Given the description of an element on the screen output the (x, y) to click on. 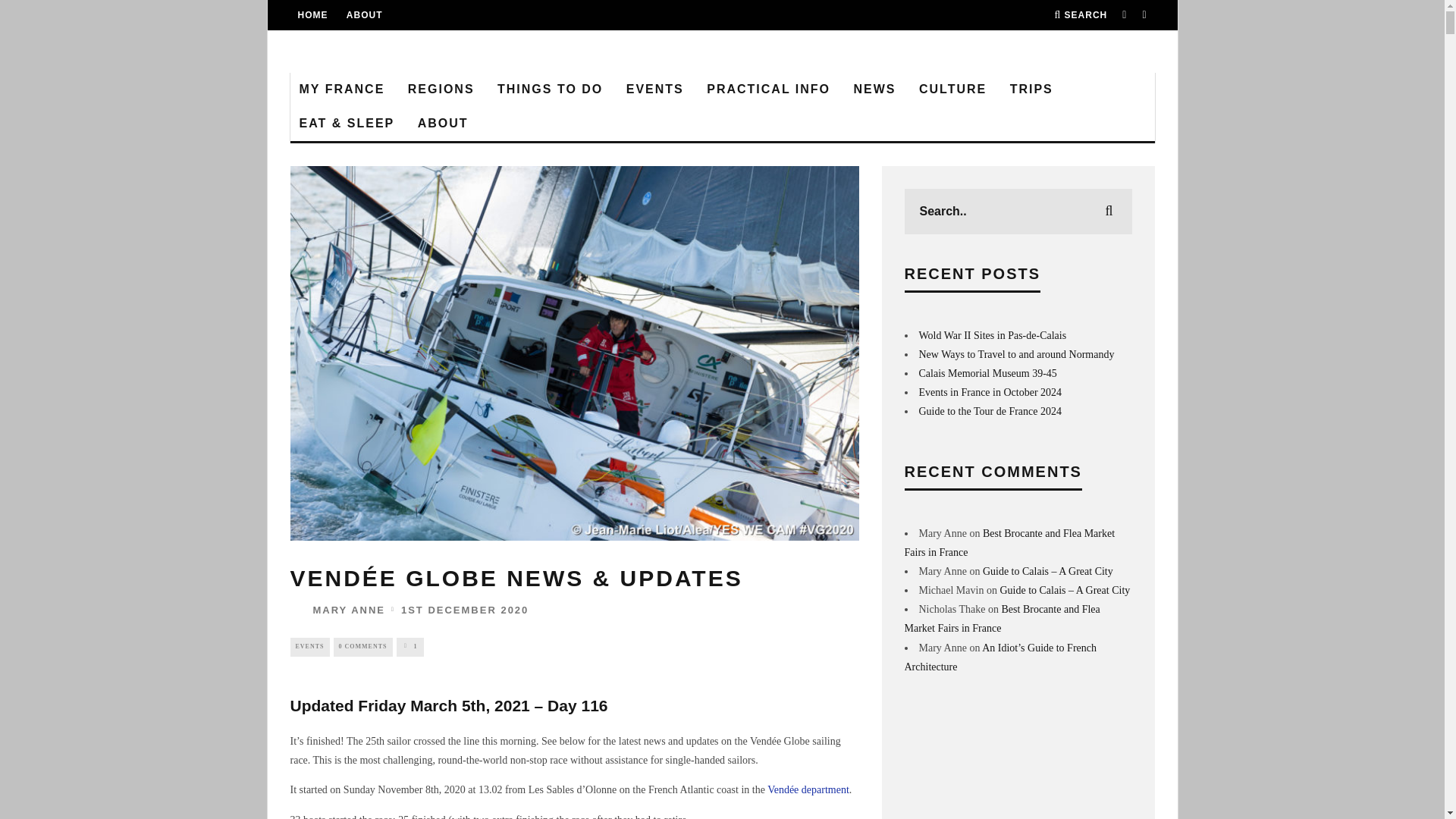
Itineraries (1031, 89)
Blog (341, 89)
HOME (312, 15)
ABOUT (364, 15)
SEARCH (1080, 15)
Search (1080, 15)
View all posts in Events (309, 647)
